Given the description of an element on the screen output the (x, y) to click on. 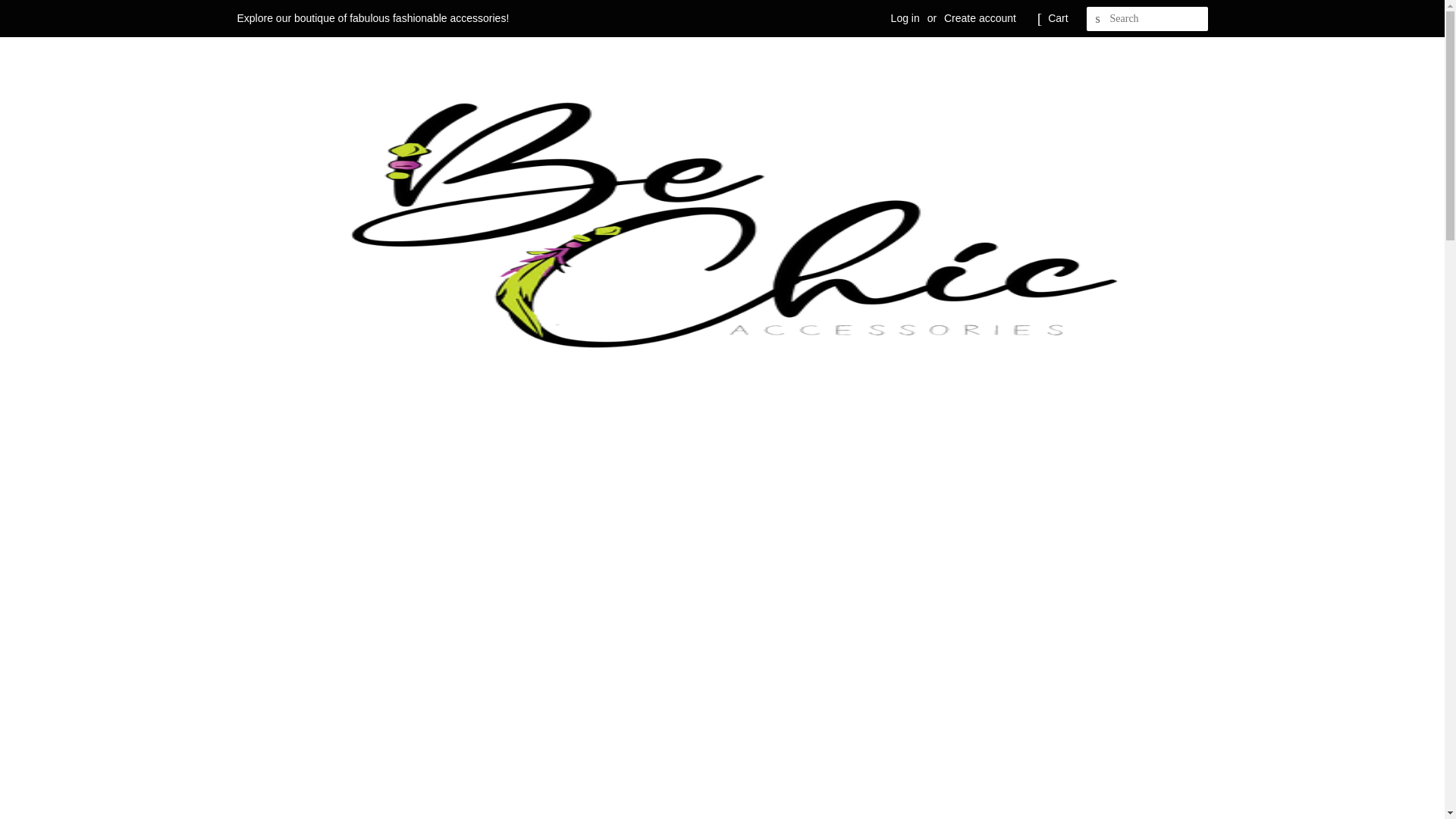
Log in (905, 18)
Cart (1057, 18)
SEARCH (1097, 18)
Create account (979, 18)
